Given the description of an element on the screen output the (x, y) to click on. 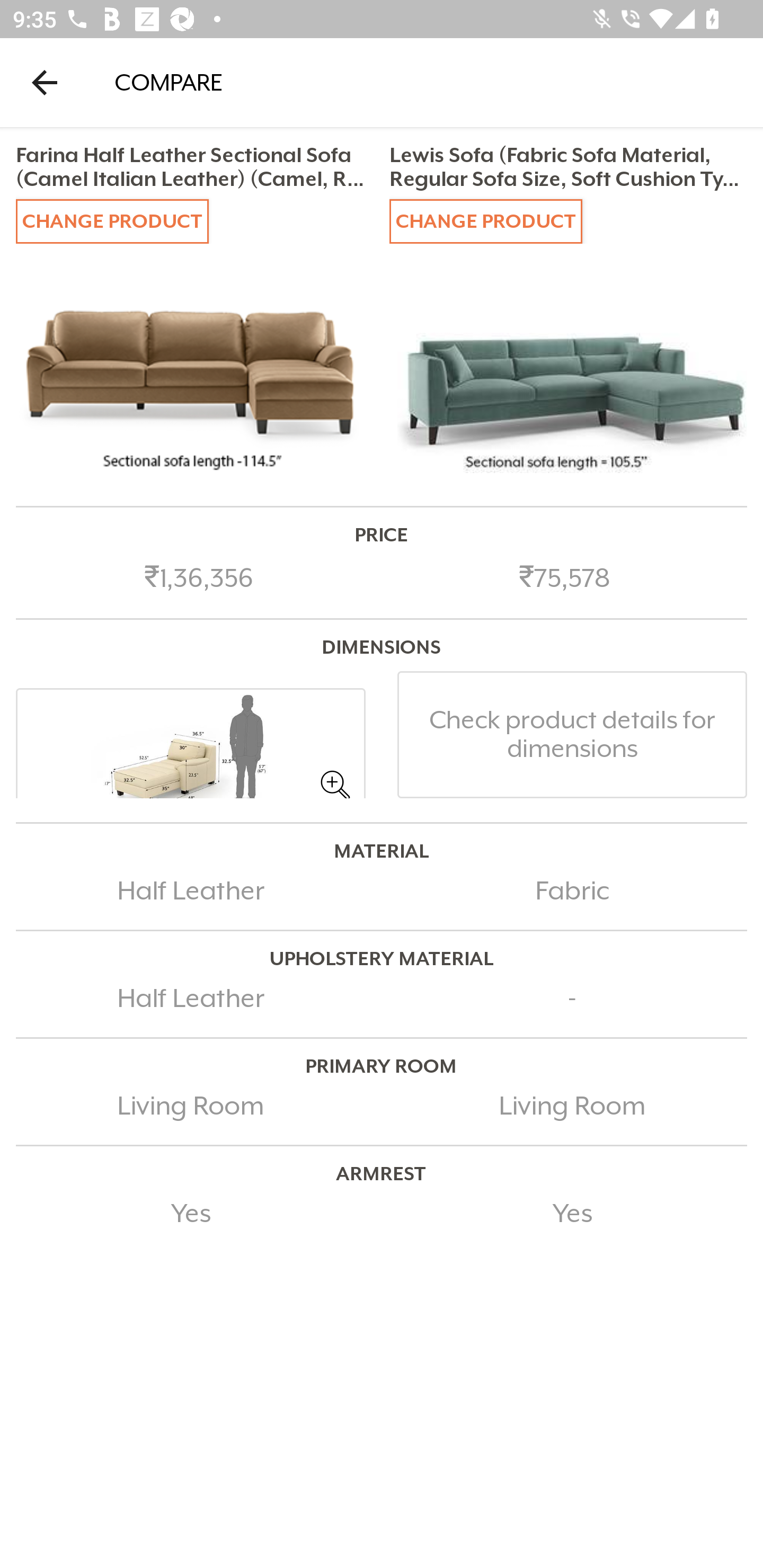
Navigate up (44, 82)
CHANGE PRODUCT (112, 221)
CHANGE PRODUCT (485, 221)
Check product details for dimensions (571, 734)
